Given the description of an element on the screen output the (x, y) to click on. 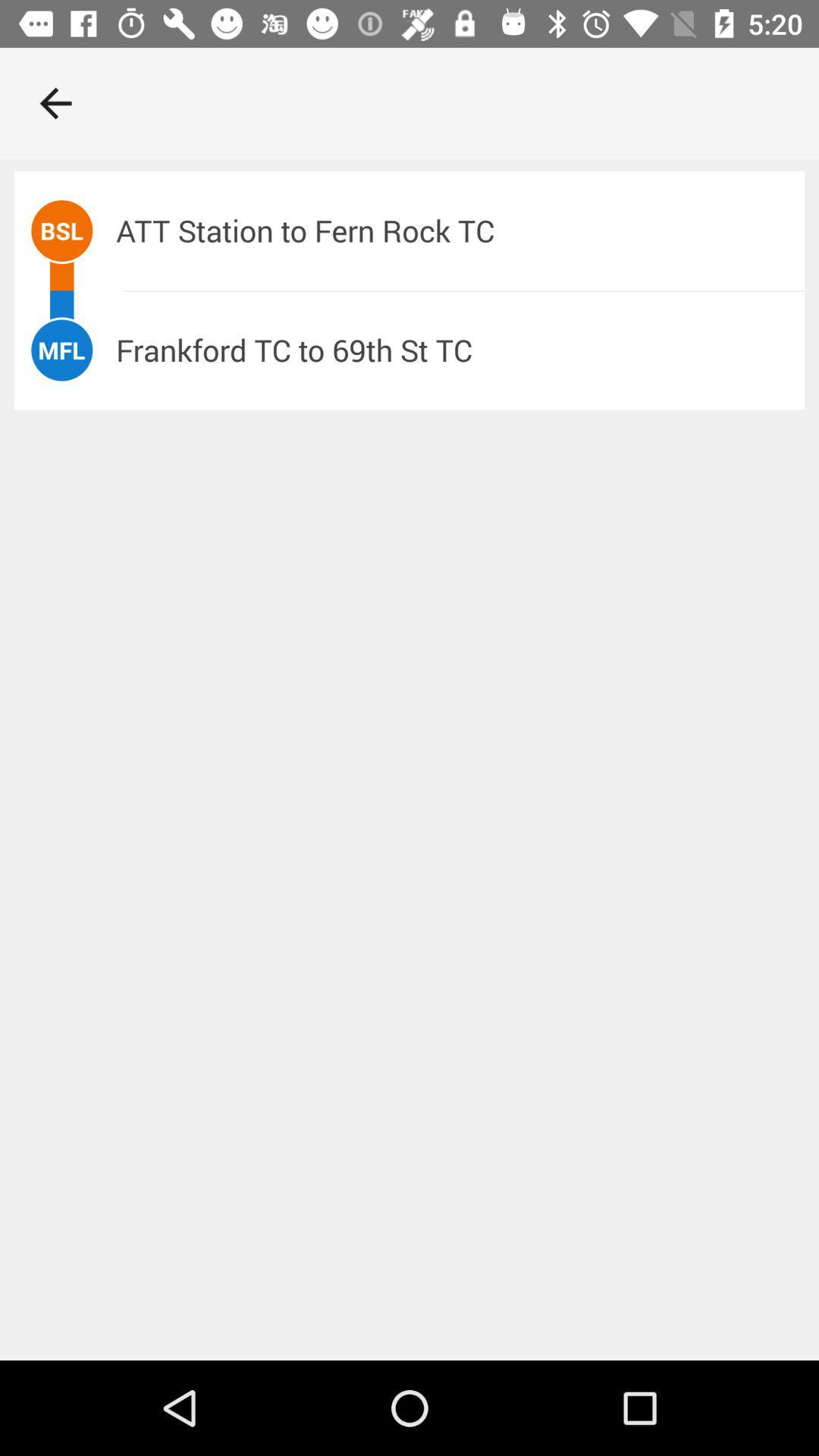
turn on icon to the left of att station to (61, 230)
